Given the description of an element on the screen output the (x, y) to click on. 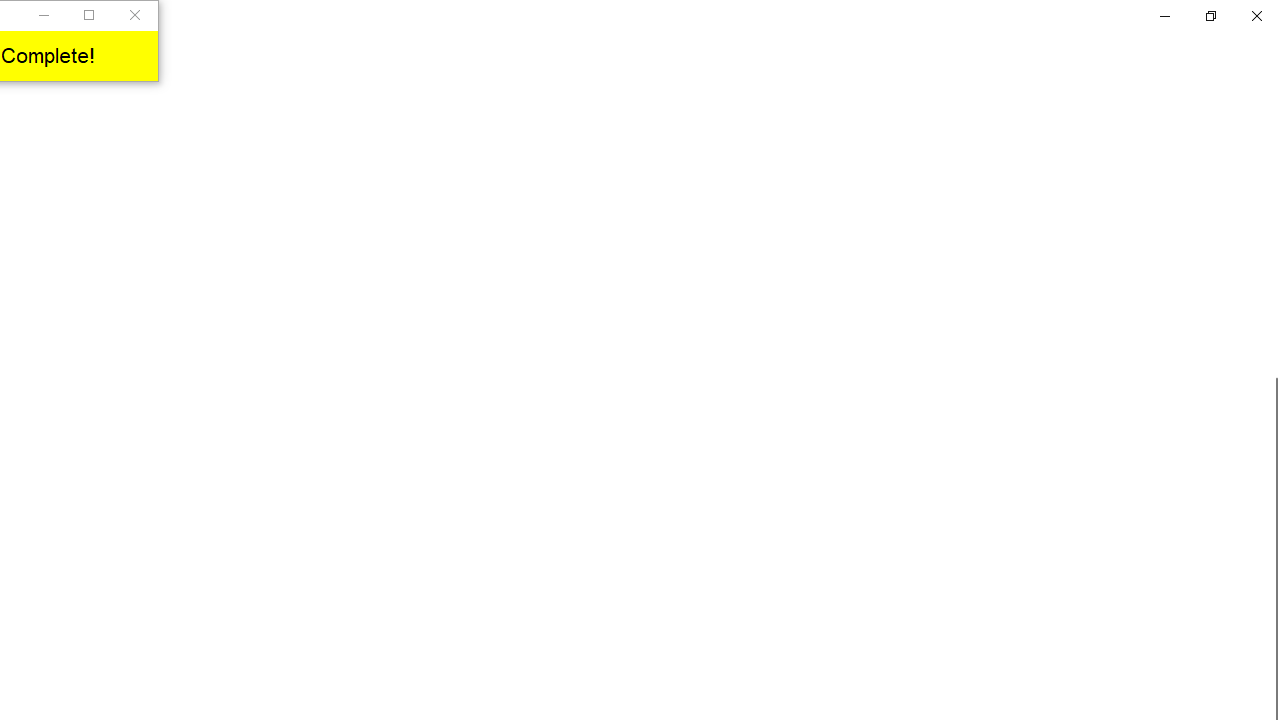
Minimize Settings (1164, 15)
Restore Settings (1210, 15)
Vertical Small Decrease (1272, 103)
Close Settings (1256, 15)
Vertical Large Decrease (1272, 245)
